Given the description of an element on the screen output the (x, y) to click on. 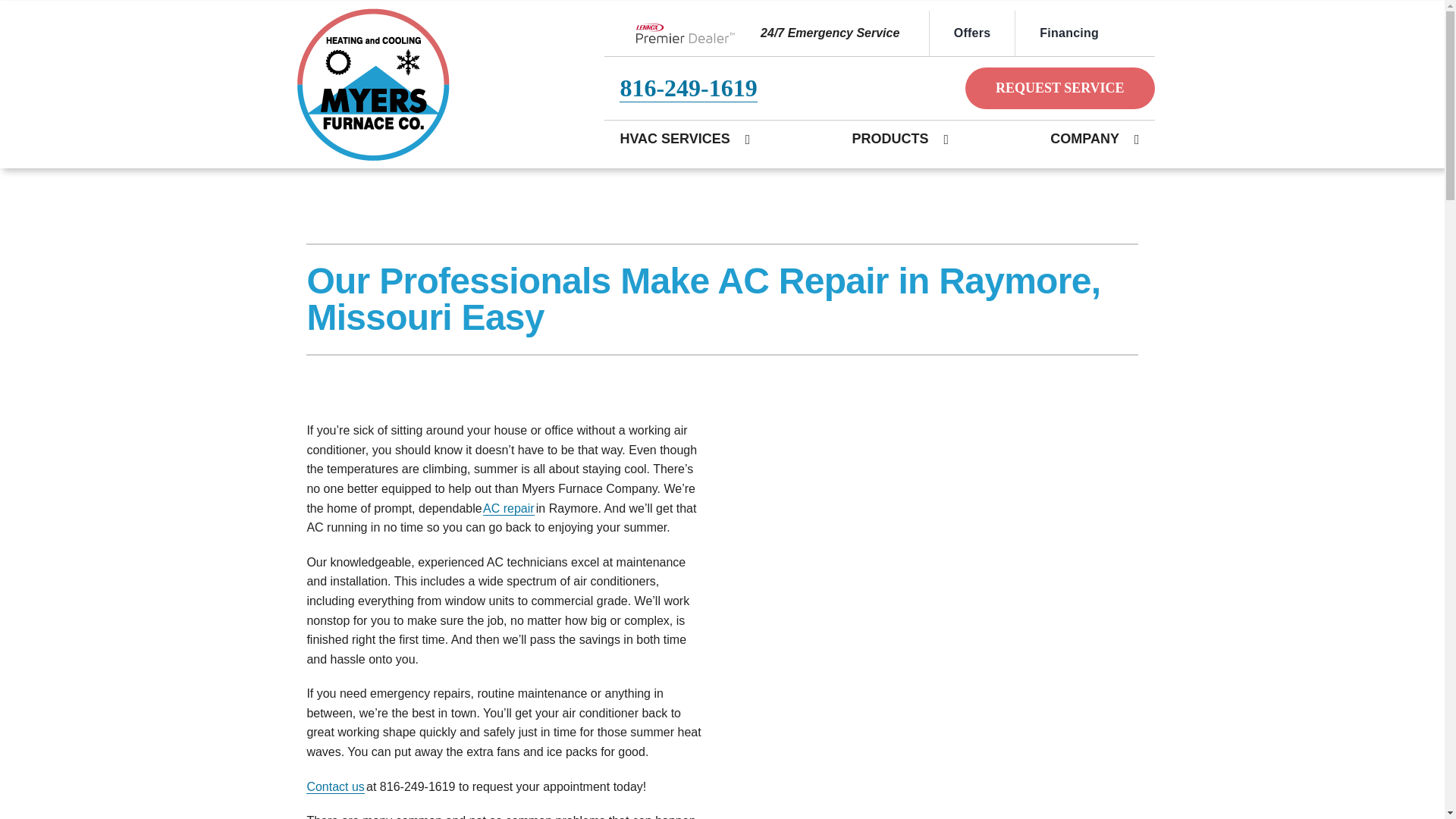
REQUEST SERVICE (1059, 87)
COMPANY (1084, 139)
Offers (971, 33)
Financing (1068, 33)
816-249-1619 (688, 88)
PRODUCTS (890, 139)
HVAC SERVICES (674, 139)
